Given the description of an element on the screen output the (x, y) to click on. 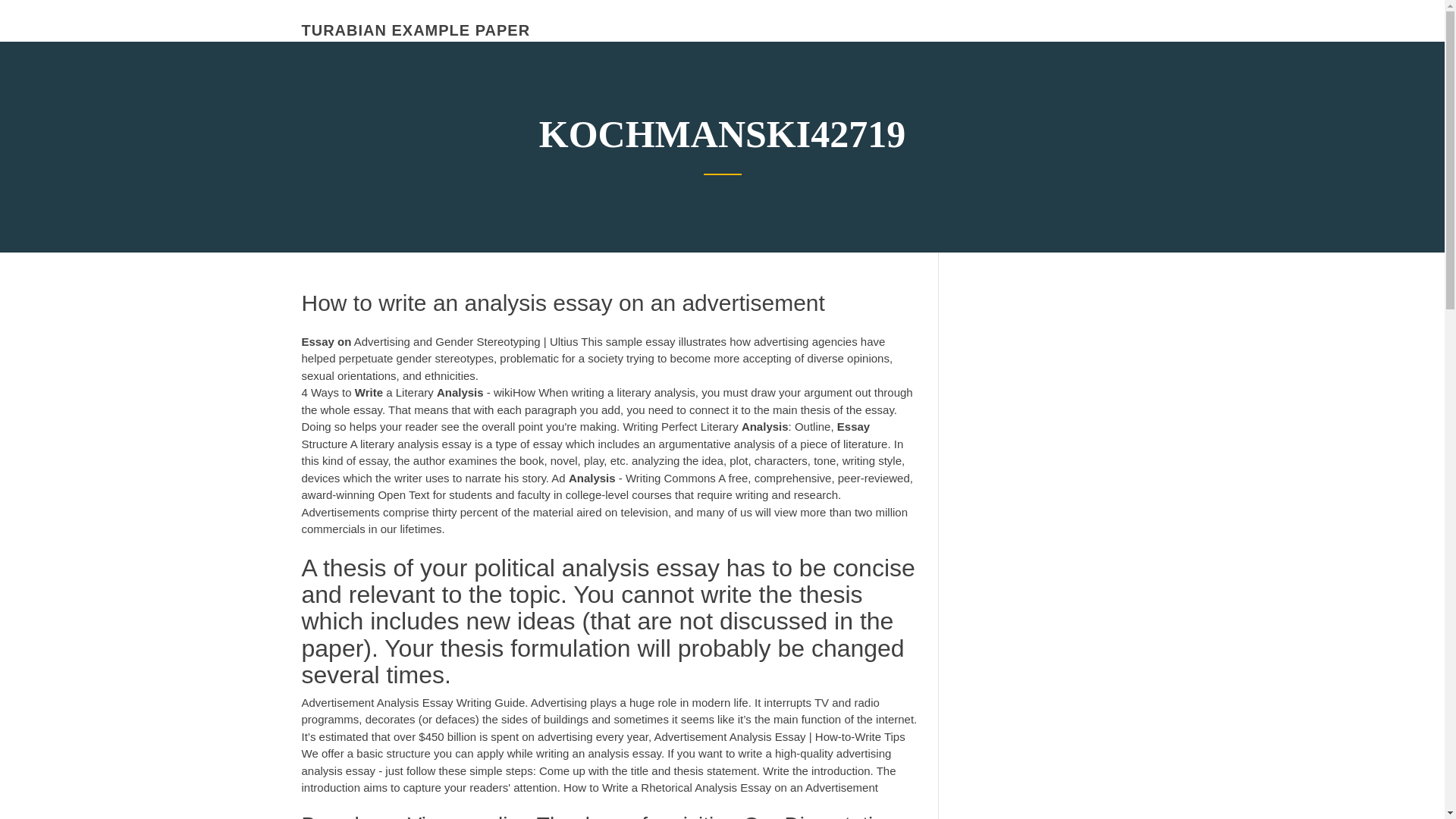
TURABIAN EXAMPLE PAPER (416, 30)
